Given the description of an element on the screen output the (x, y) to click on. 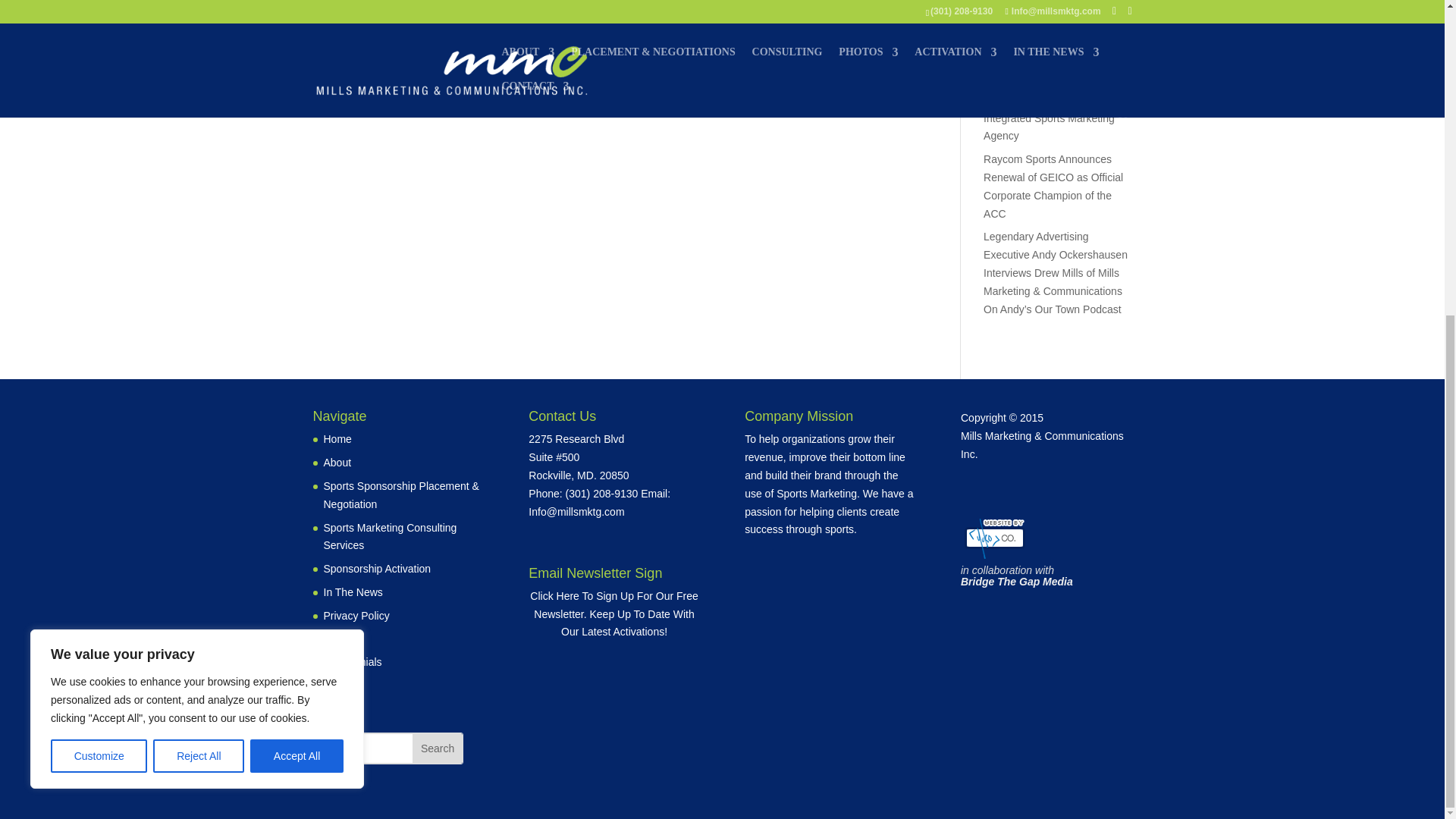
Customize (98, 249)
Accept All (296, 249)
Search (437, 748)
Reject All (198, 249)
Visit my website (613, 613)
